Given the description of an element on the screen output the (x, y) to click on. 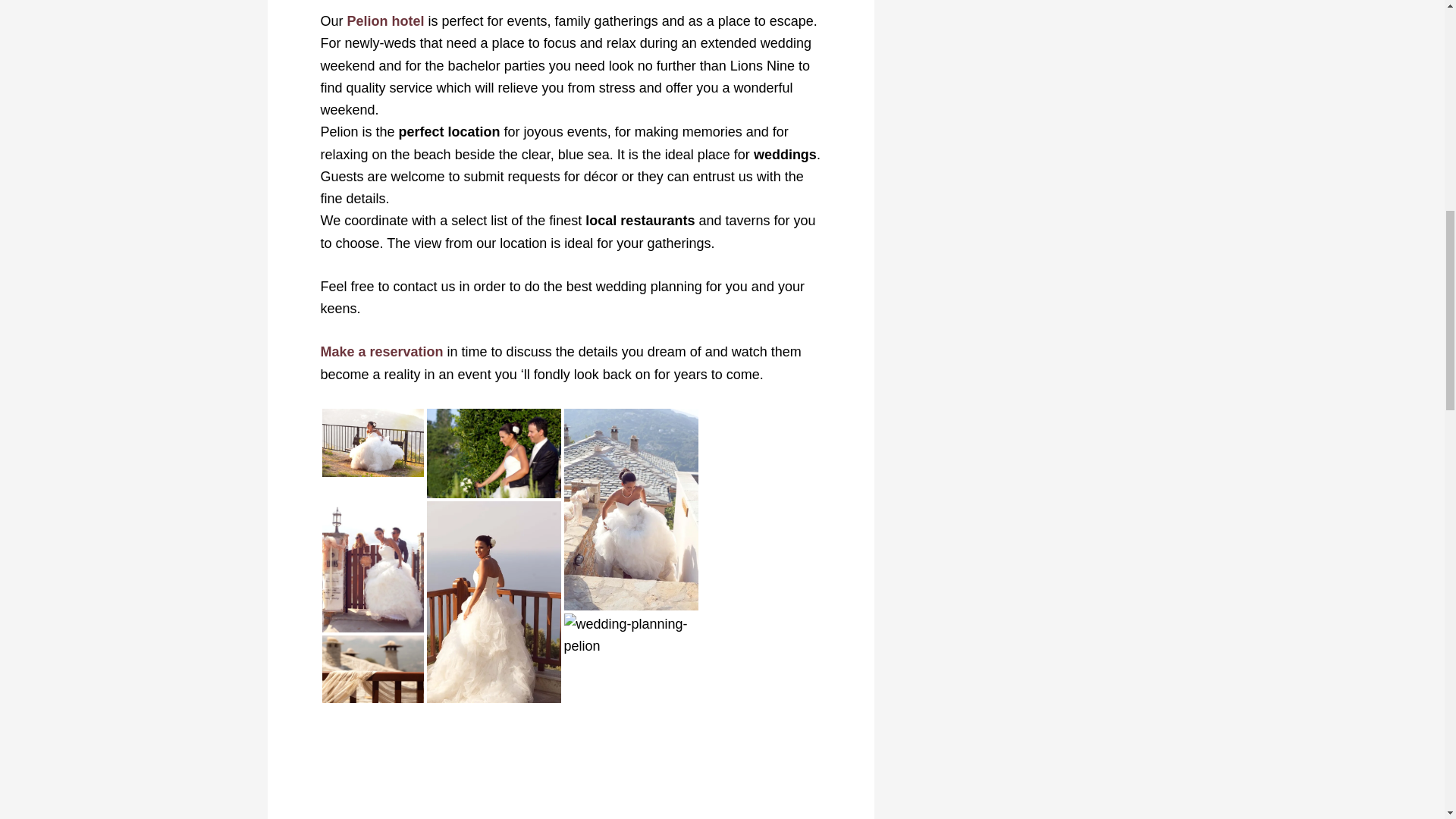
wedding-planning-pelion-6 (372, 668)
wedding-planning-pelion-5 (493, 452)
Pelion hotel (386, 20)
wedding-planning-pelion-2 (631, 635)
Make a reservation (381, 351)
wedding-planning-pelion-8 (372, 442)
